Given the description of an element on the screen output the (x, y) to click on. 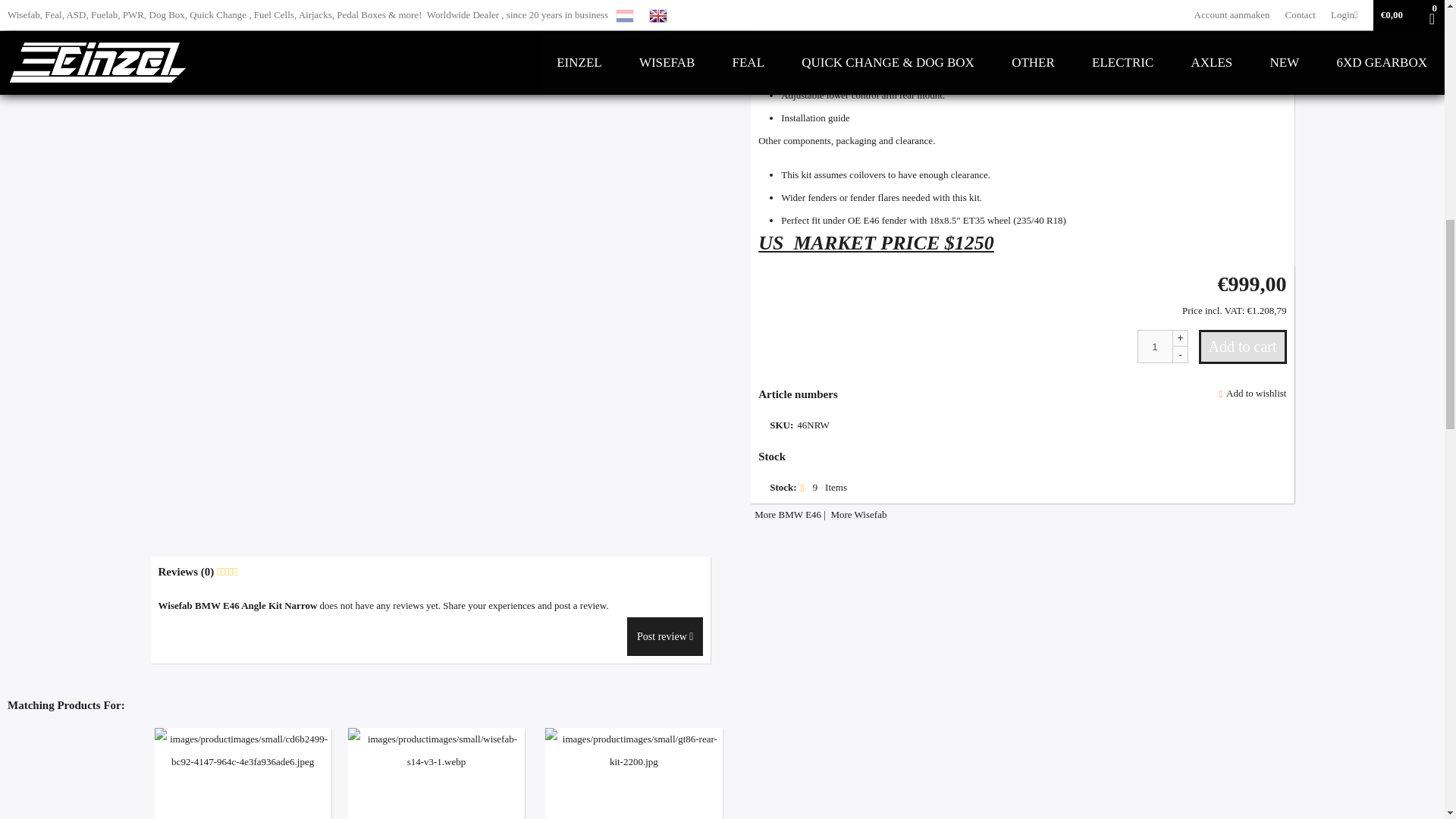
1 (1162, 346)
